Given the description of an element on the screen output the (x, y) to click on. 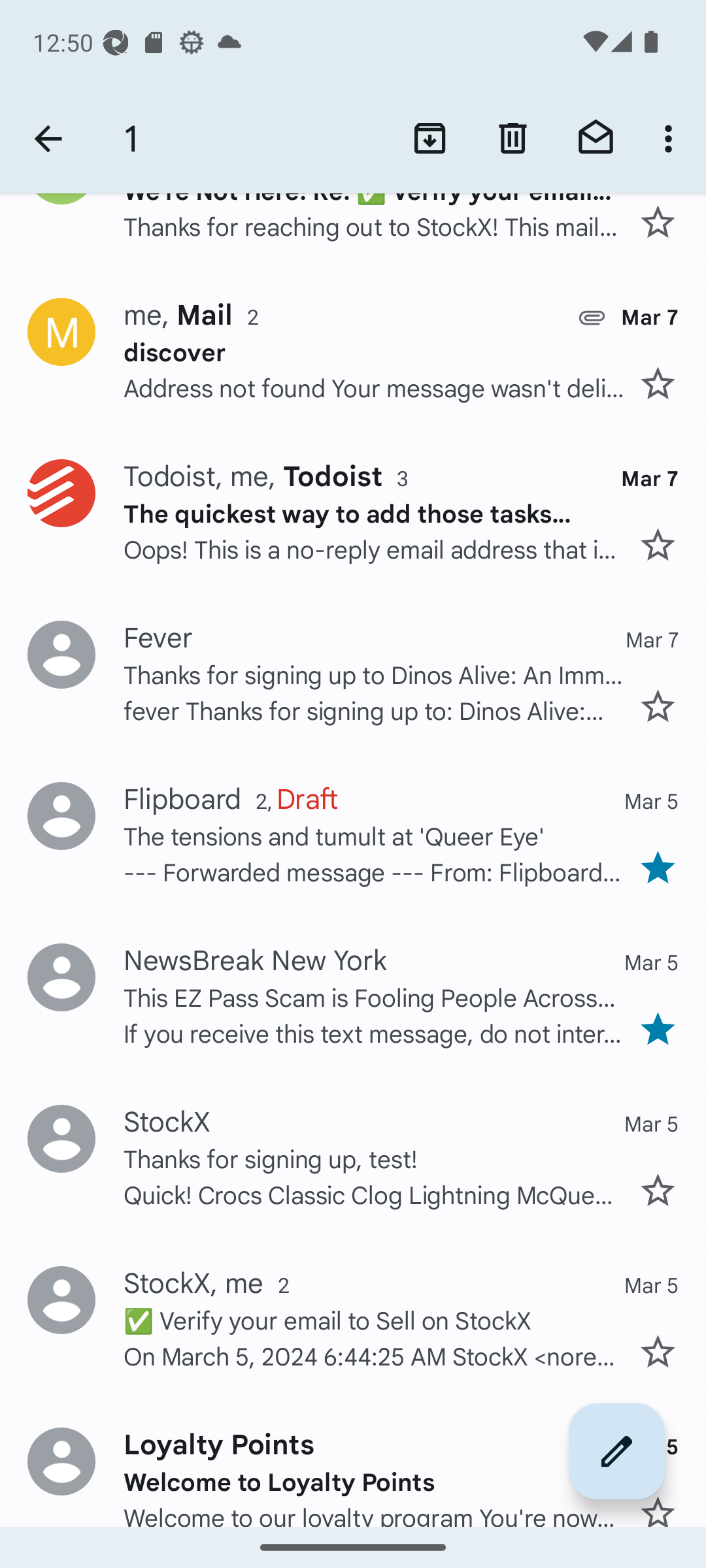
Done (48, 138)
Archive (429, 138)
Delete (512, 138)
Mark read (595, 138)
More options (671, 138)
Compose (617, 1451)
